Given the description of an element on the screen output the (x, y) to click on. 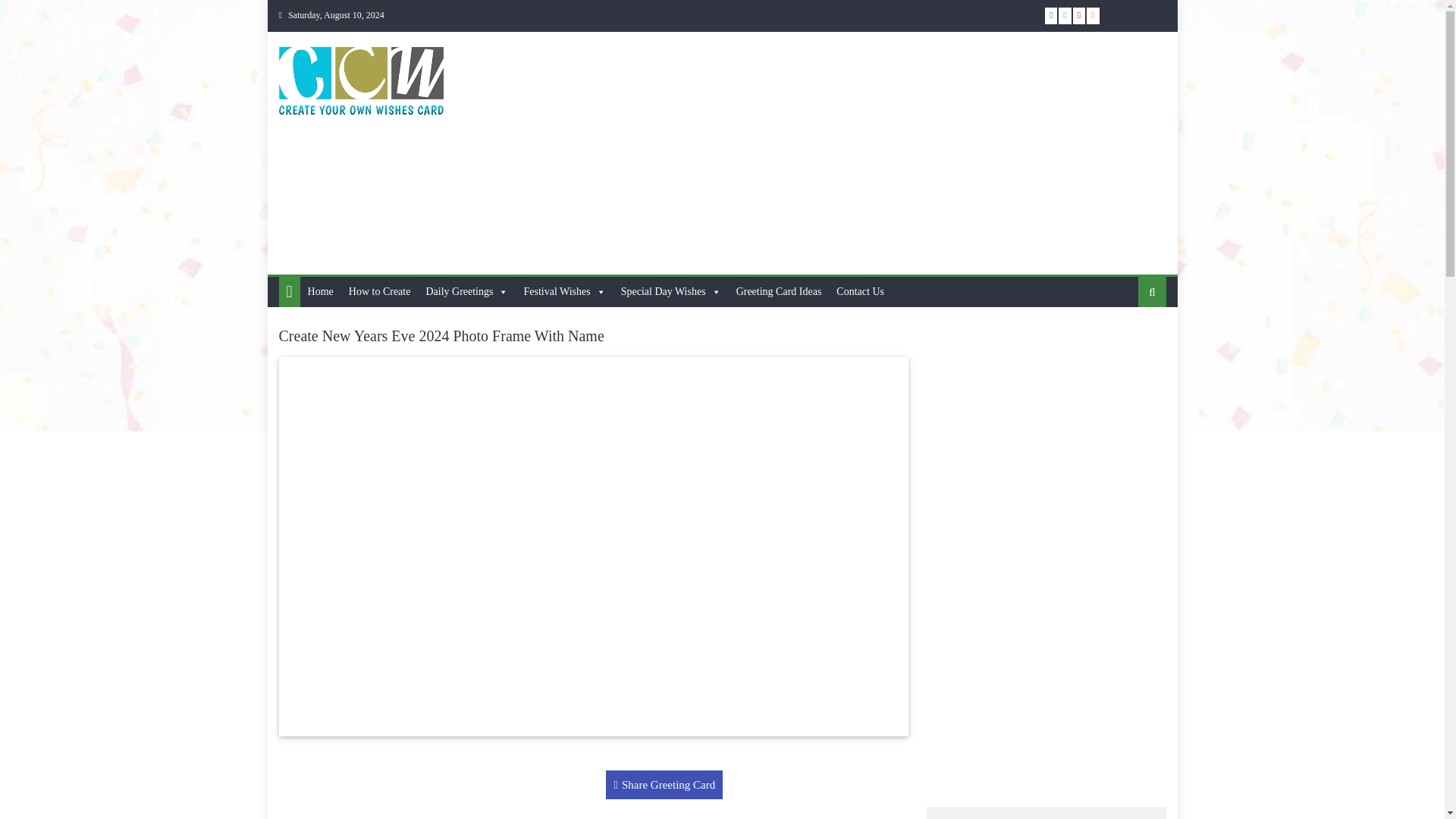
Festival Wishes (563, 291)
Daily Greetings (466, 291)
Advertisement (890, 152)
Home (319, 291)
How to Create (379, 291)
